Given the description of an element on the screen output the (x, y) to click on. 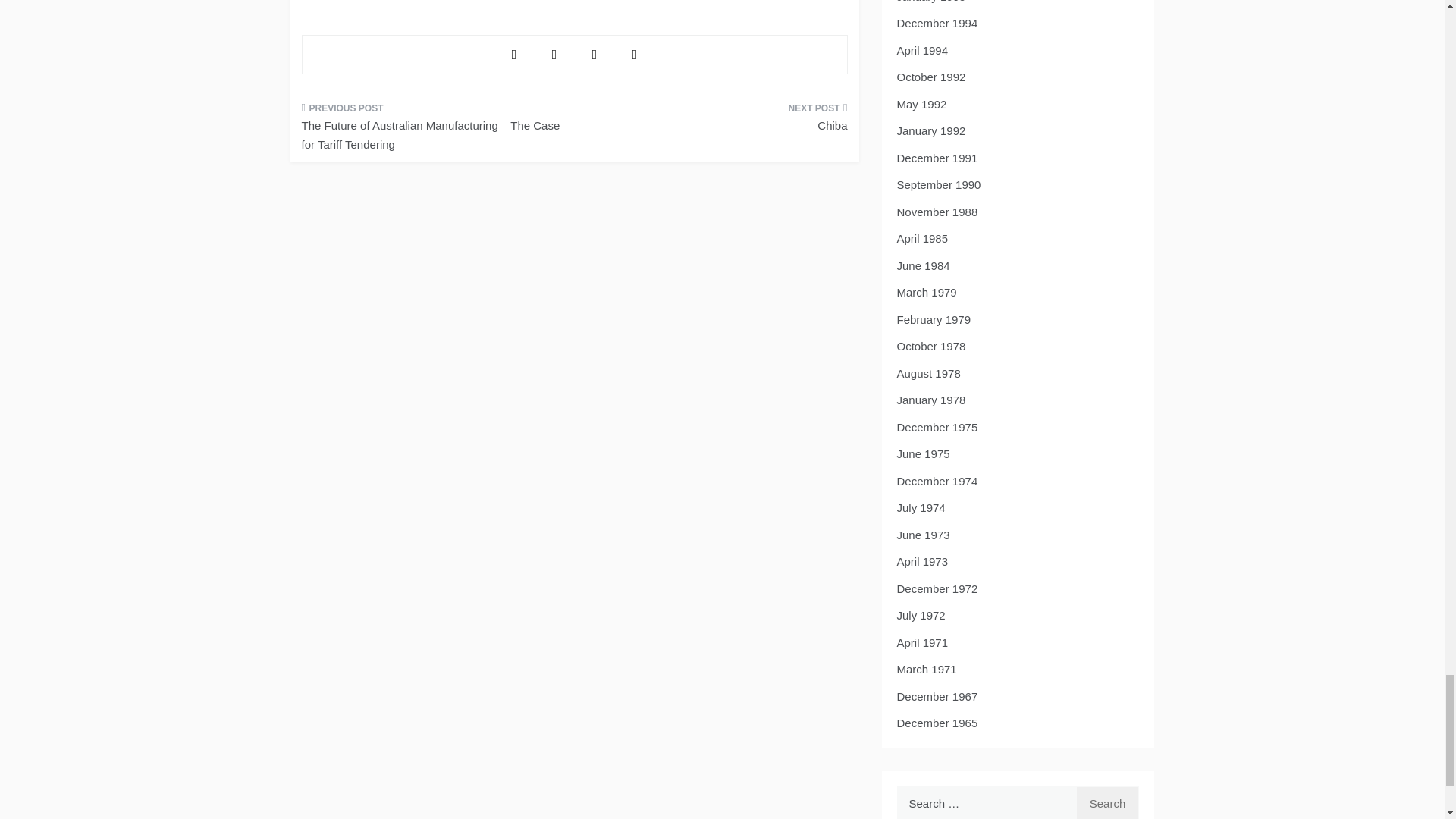
Search (1107, 802)
Chiba (716, 121)
Search (1107, 802)
